Given the description of an element on the screen output the (x, y) to click on. 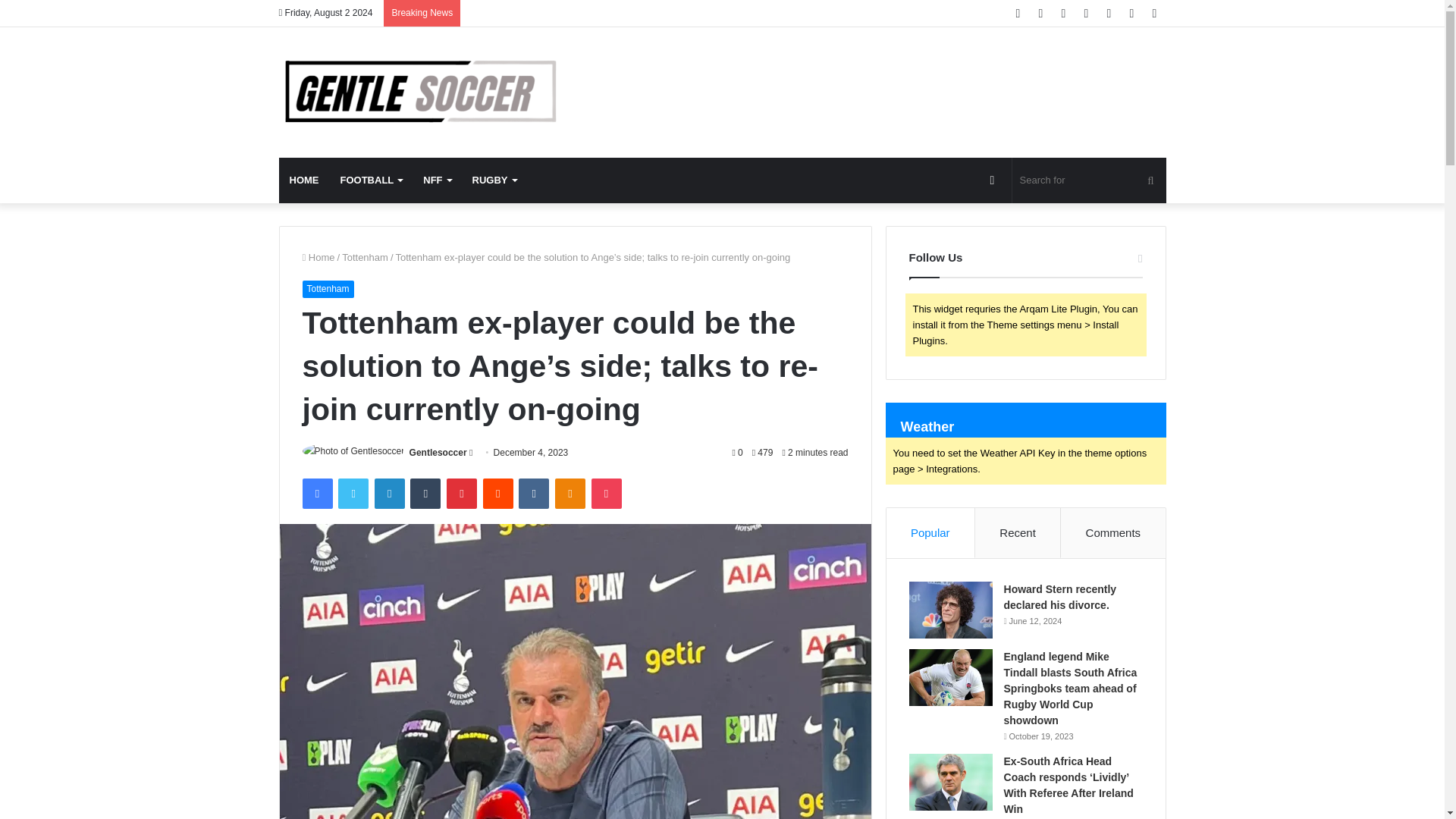
Tumblr (425, 493)
NFF (436, 180)
Reddit (498, 493)
RUGBY (494, 180)
Pinterest (461, 493)
Facebook (316, 493)
FOOTBALL (370, 180)
HOME (304, 180)
Gentlesoccer (419, 92)
LinkedIn (389, 493)
VKontakte (533, 493)
Twitter (352, 493)
